Given the description of an element on the screen output the (x, y) to click on. 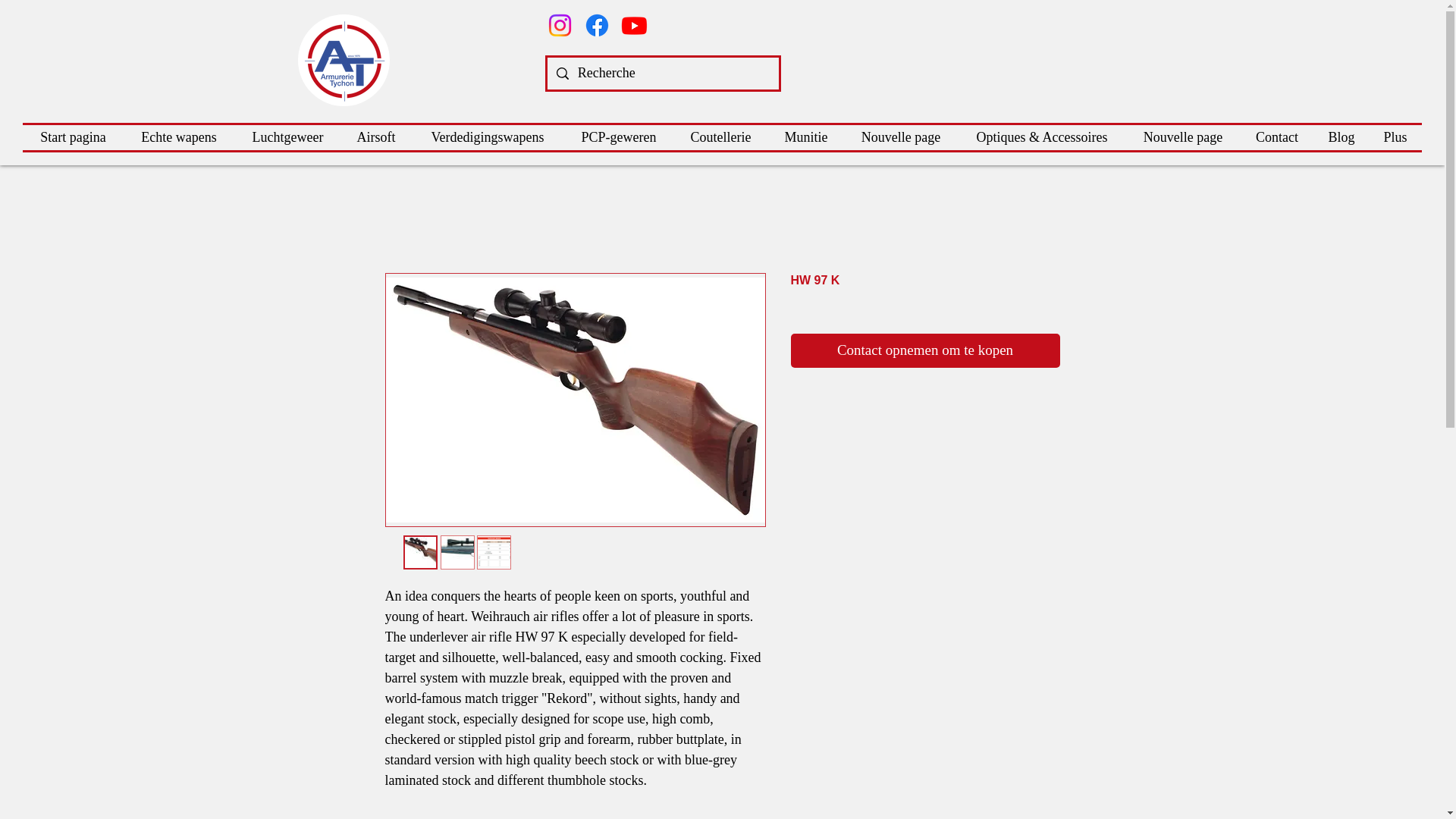
Echte wapens (178, 137)
Verdedigingswapens (487, 137)
Start pagina (73, 137)
PCP-geweren (618, 137)
Airsoft (375, 137)
Luchtgeweer (287, 137)
